Given the description of an element on the screen output the (x, y) to click on. 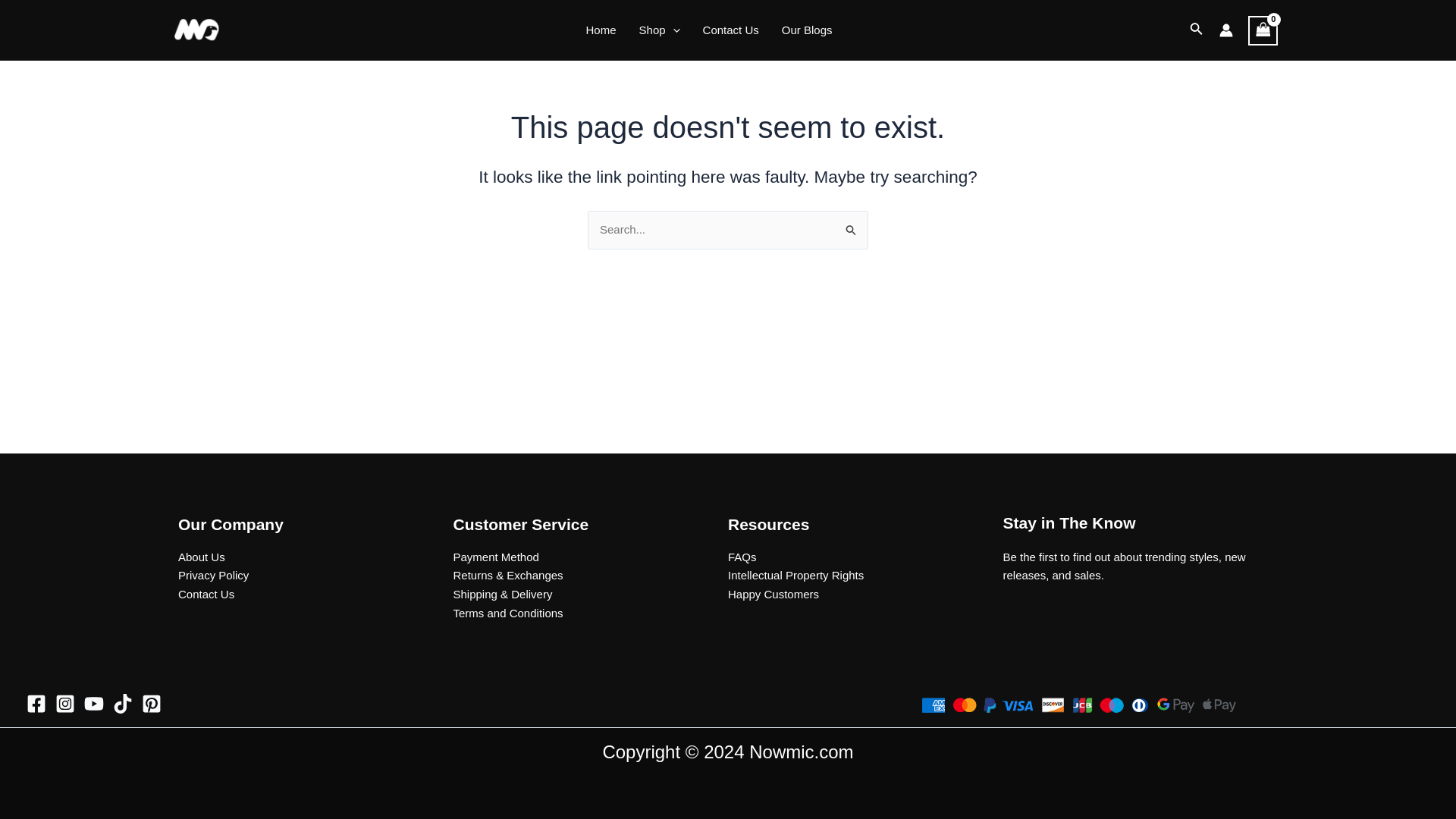
Privacy Policy (212, 574)
Search (850, 225)
Payment Method (495, 556)
About Us (201, 556)
Contact Us (205, 594)
Happy Customers (773, 594)
Search (850, 225)
Contact Us (730, 30)
Shop (659, 30)
Terms and Conditions (507, 612)
FAQs (742, 556)
Our Blogs (807, 30)
Intellectual Property Rights (795, 574)
Search (850, 225)
